Given the description of an element on the screen output the (x, y) to click on. 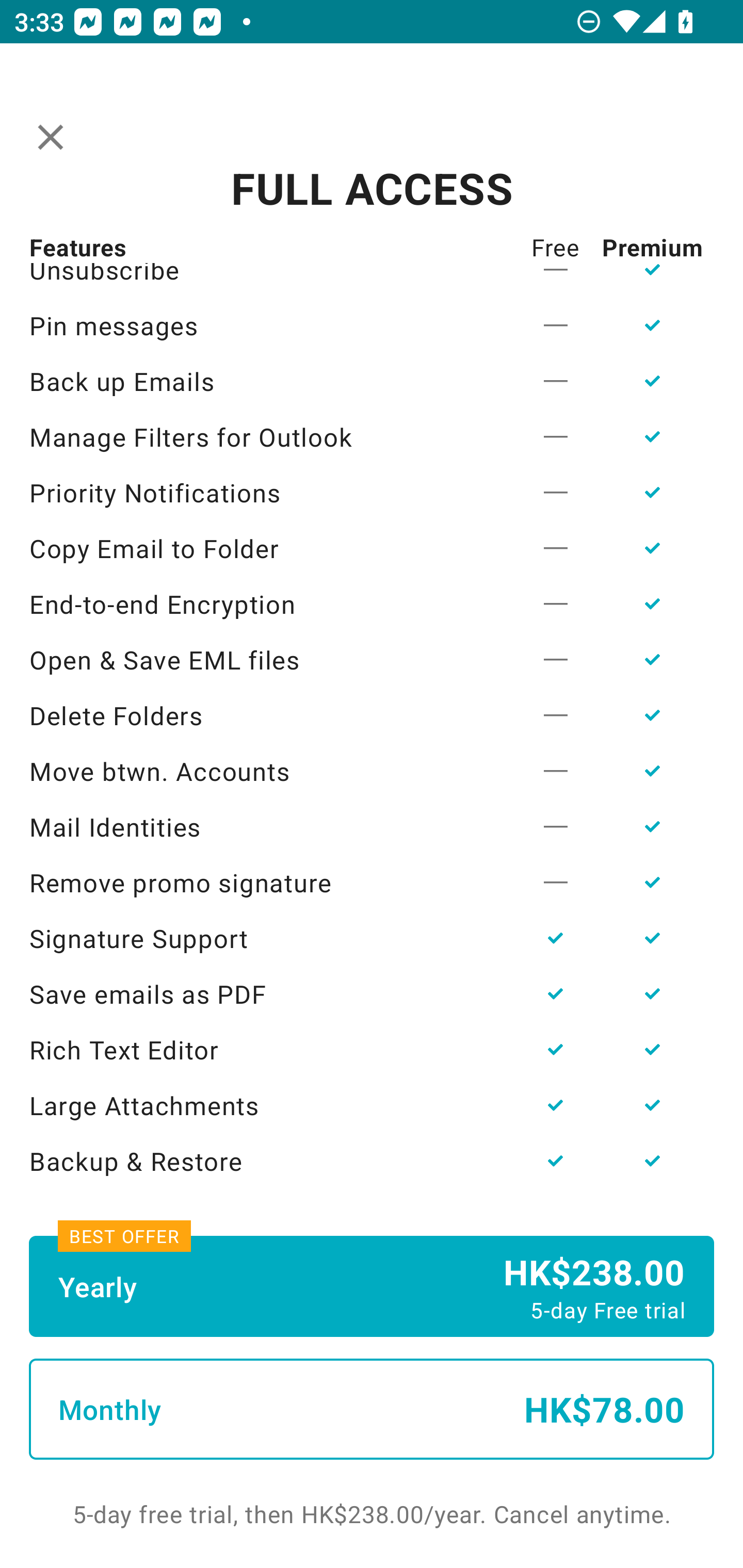
Yearly HK$238.00 5-day Free trial (371, 1286)
Monthly HK$78.00 (371, 1408)
